Given the description of an element on the screen output the (x, y) to click on. 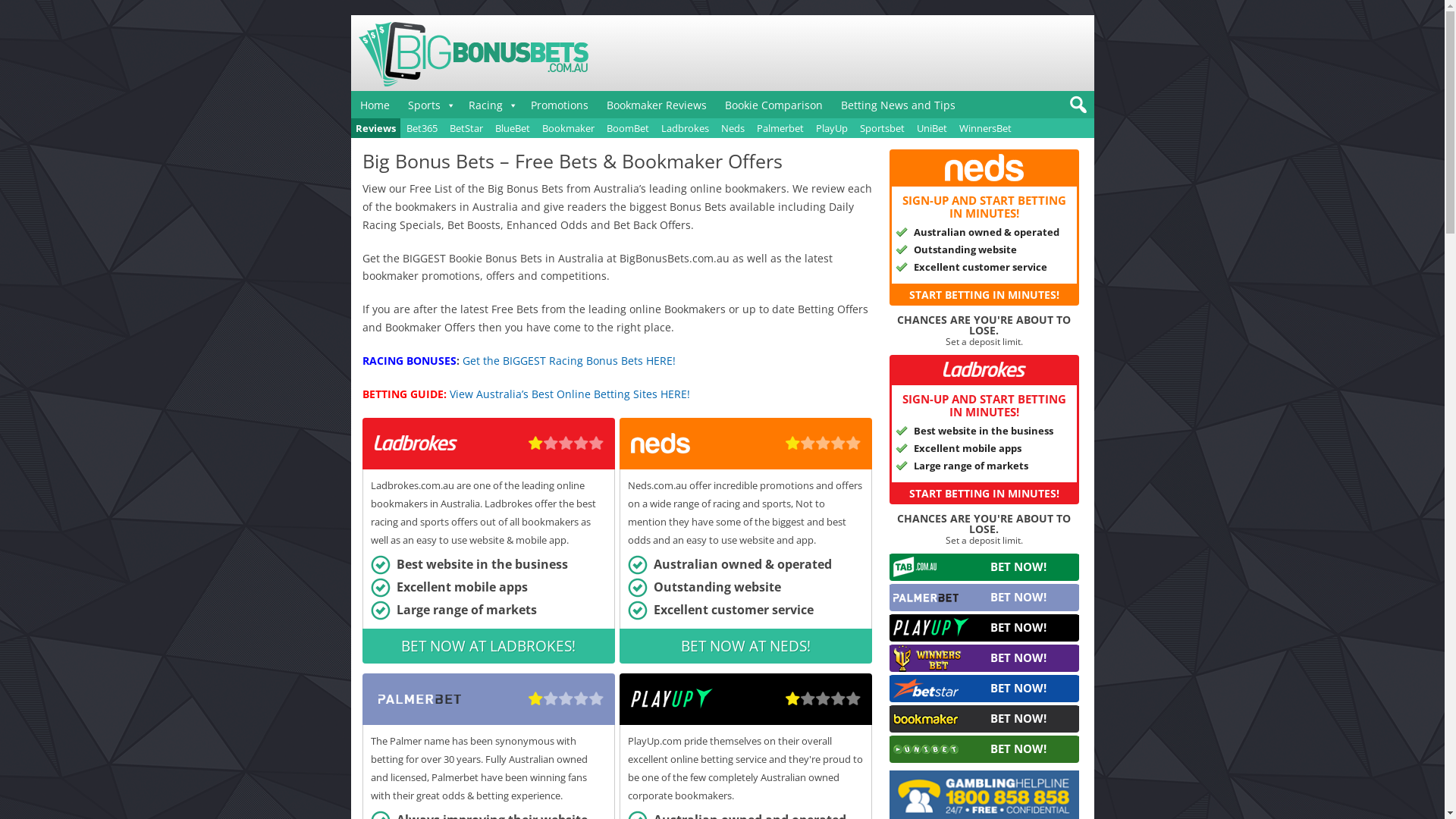
WinnersBet Element type: text (984, 128)
Bookmaker Reviews Element type: text (656, 104)
BET NOW AT LADBROKES! Element type: text (488, 645)
Sportsbet Element type: text (881, 128)
UniBet Element type: text (931, 128)
BET NOW! Element type: text (983, 566)
Racing Element type: text (490, 104)
Get the BIGGEST Racing Bonus Bets HERE! Element type: text (568, 360)
Ladbrokes Element type: text (685, 128)
Bet365 Element type: text (421, 128)
Bookmaker Element type: text (567, 128)
BET NOW! Element type: text (983, 627)
Home Element type: text (374, 104)
Promotions Element type: text (559, 104)
BET NOW! Element type: text (983, 597)
BET NOW! Element type: text (983, 718)
Bookie Comparison Element type: text (773, 104)
Betting News and Tips Element type: text (897, 104)
PlayUp Element type: text (831, 128)
BET NOW! Element type: text (983, 688)
BET NOW! Element type: text (983, 748)
BoomBet Element type: text (627, 128)
Sports Element type: text (428, 104)
BET NOW! Element type: text (983, 657)
BET NOW AT NEDS! Element type: text (745, 645)
Palmerbet Element type: text (779, 128)
BlueBet Element type: text (511, 128)
BetStar Element type: text (465, 128)
Neds Element type: text (731, 128)
